Given the description of an element on the screen output the (x, y) to click on. 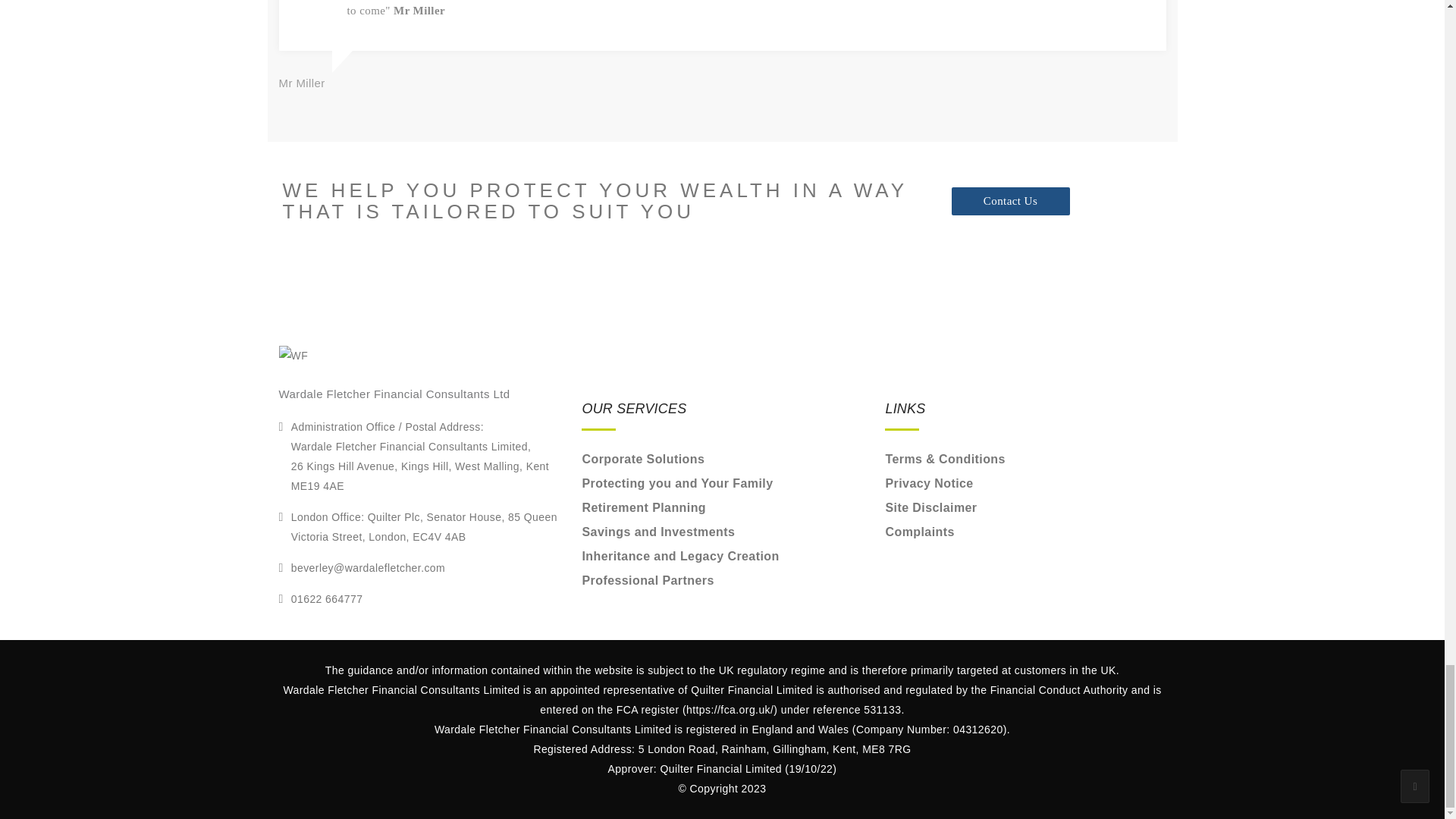
Corporate Solutions (642, 459)
Contact Us (1009, 201)
Protecting you and Your Family (676, 482)
Retirement Planning (643, 507)
